Given the description of an element on the screen output the (x, y) to click on. 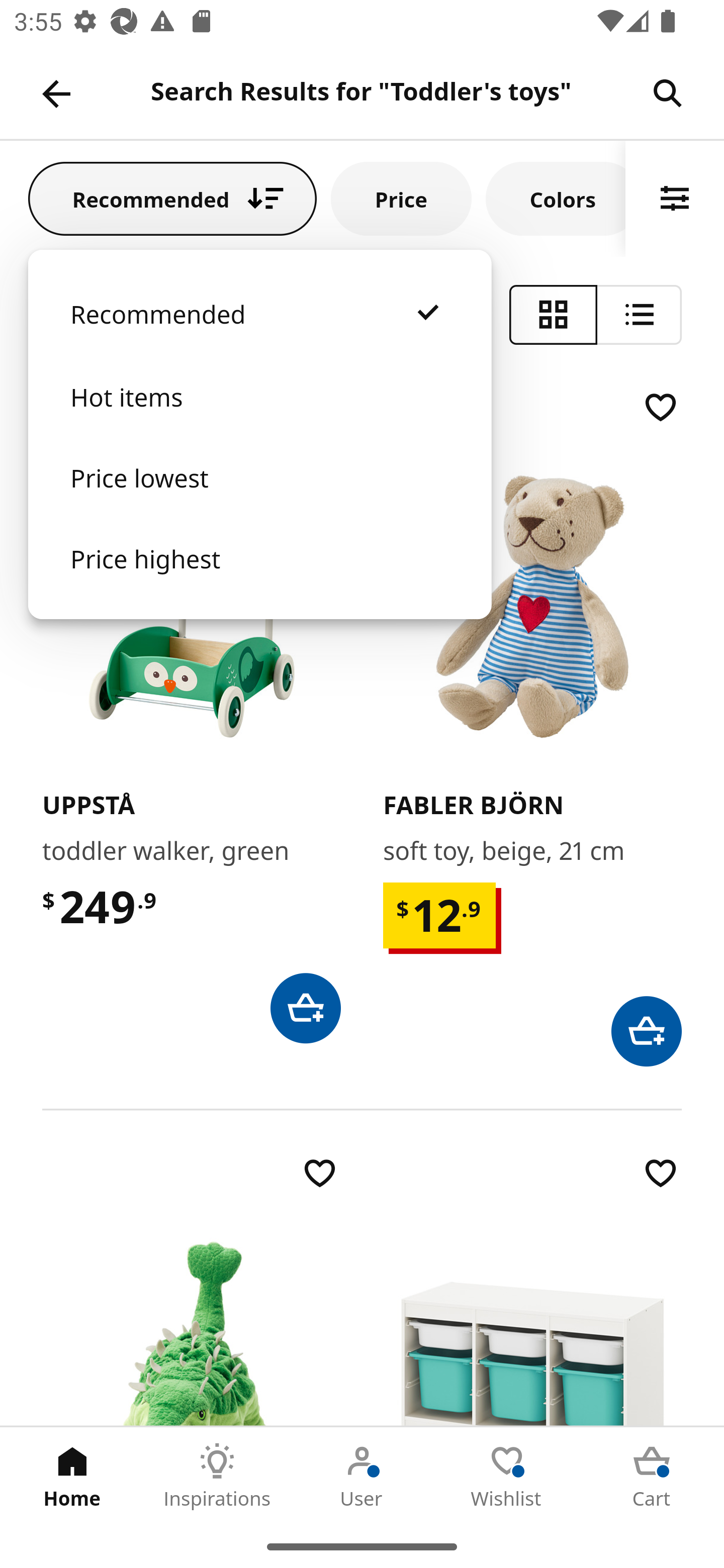
Recommended (172, 198)
Price (400, 198)
Colors (555, 198)
Recommended (259, 333)
Hot items (259, 416)
​U​P​P​S​T​Å​
toddler walker, green
$
249
.9 (191, 714)
Price lowest (259, 497)
Price highest (259, 578)
Home
Tab 1 of 5 (72, 1476)
Inspirations
Tab 2 of 5 (216, 1476)
User
Tab 3 of 5 (361, 1476)
Wishlist
Tab 4 of 5 (506, 1476)
Cart
Tab 5 of 5 (651, 1476)
